Given the description of an element on the screen output the (x, y) to click on. 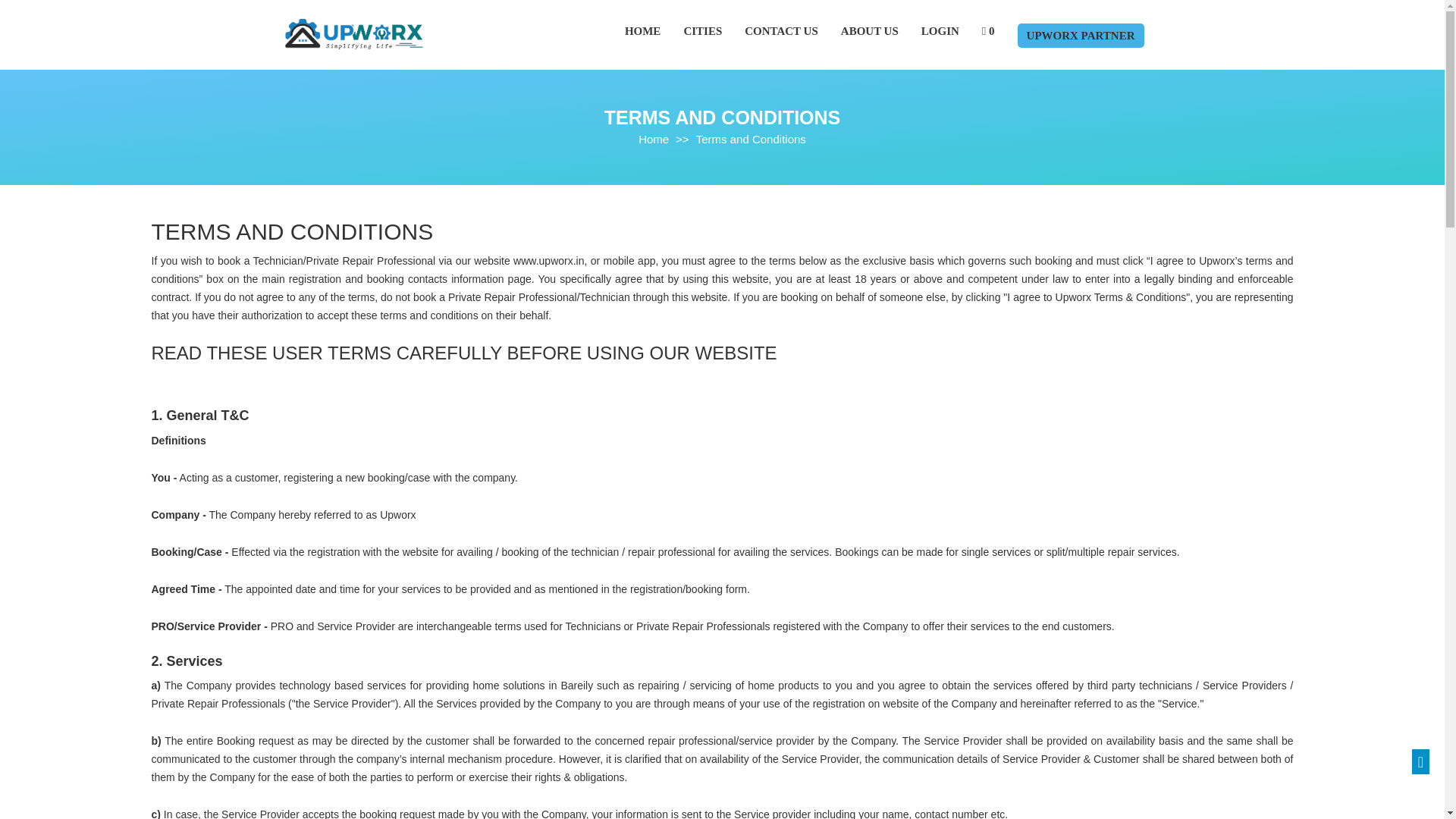
LOGIN (940, 30)
Home (653, 137)
HOME (642, 30)
CITIES (702, 30)
CONTACT US (781, 30)
ABOUT US (869, 30)
UPWORX PARTNER (1080, 35)
